Given the description of an element on the screen output the (x, y) to click on. 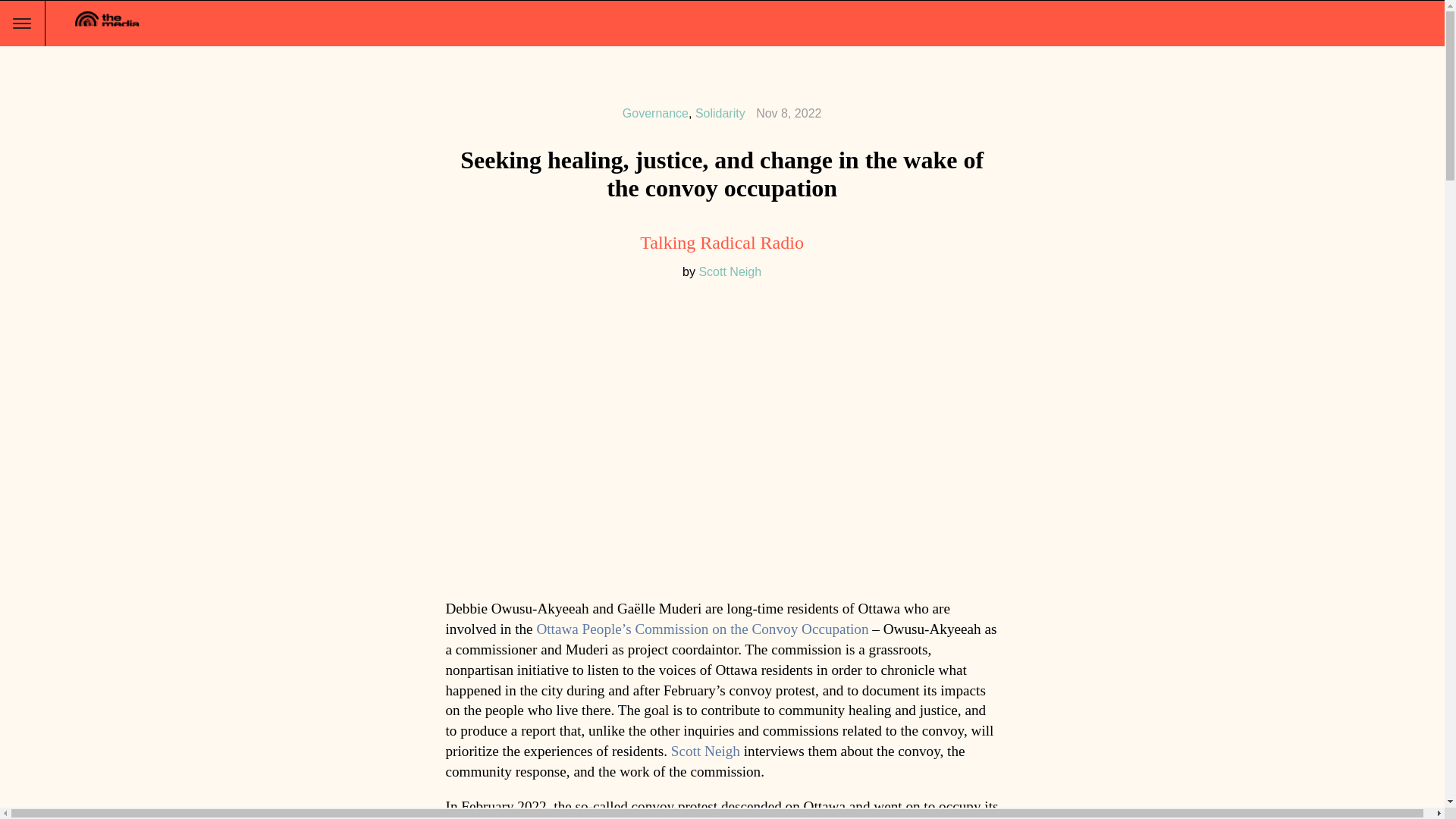
Scott Neigh (729, 271)
Solidarity (720, 113)
Governance (655, 113)
Search (18, 8)
Enter the terms you wish to search for. (1416, 24)
Scott Neigh (705, 750)
